Given the description of an element on the screen output the (x, y) to click on. 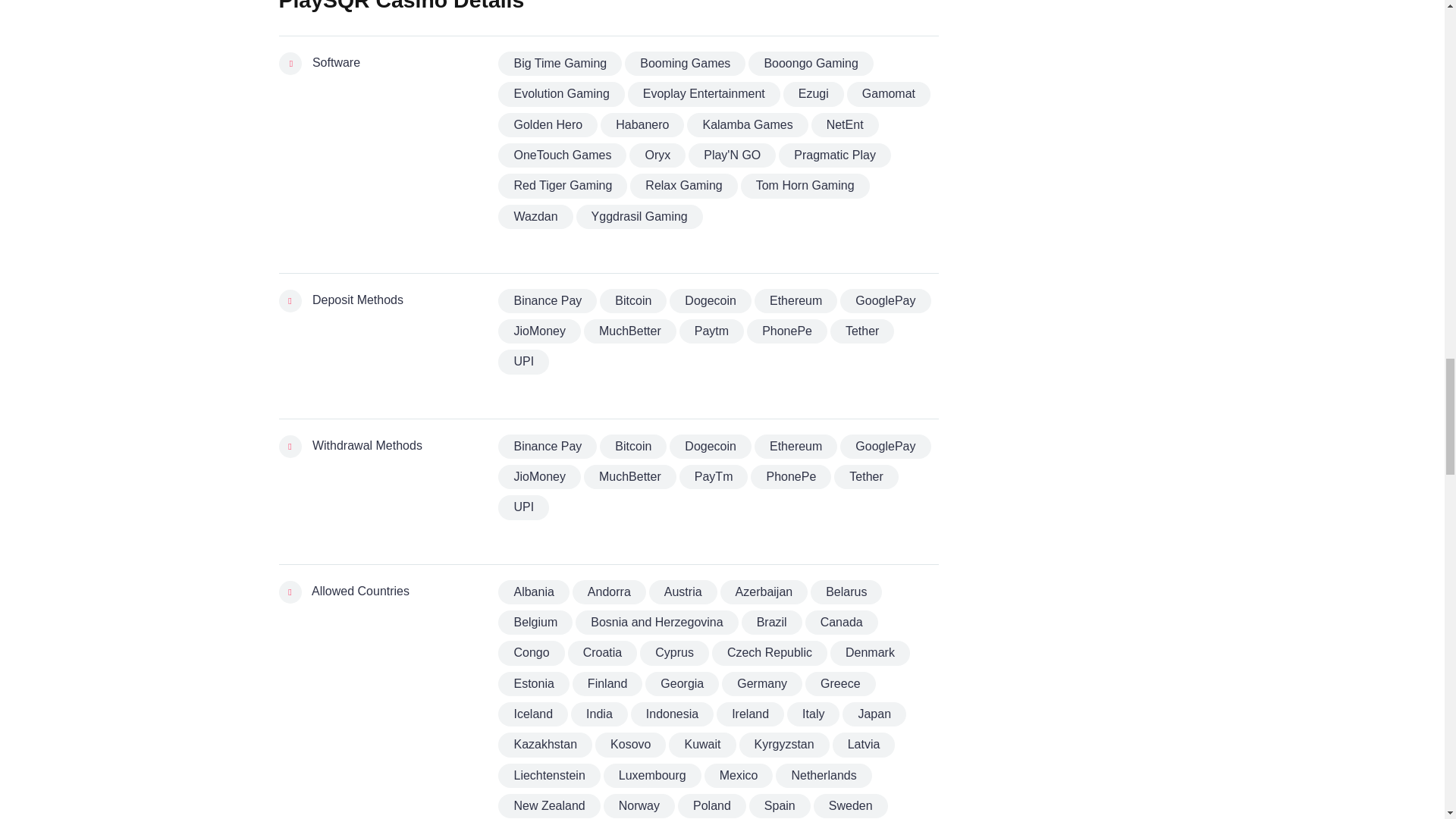
Booming Games (684, 63)
Big Time Gaming (559, 63)
Evoplay Entertainment (703, 93)
Evolution Gaming (560, 93)
Booongo Gaming (810, 63)
